Given the description of an element on the screen output the (x, y) to click on. 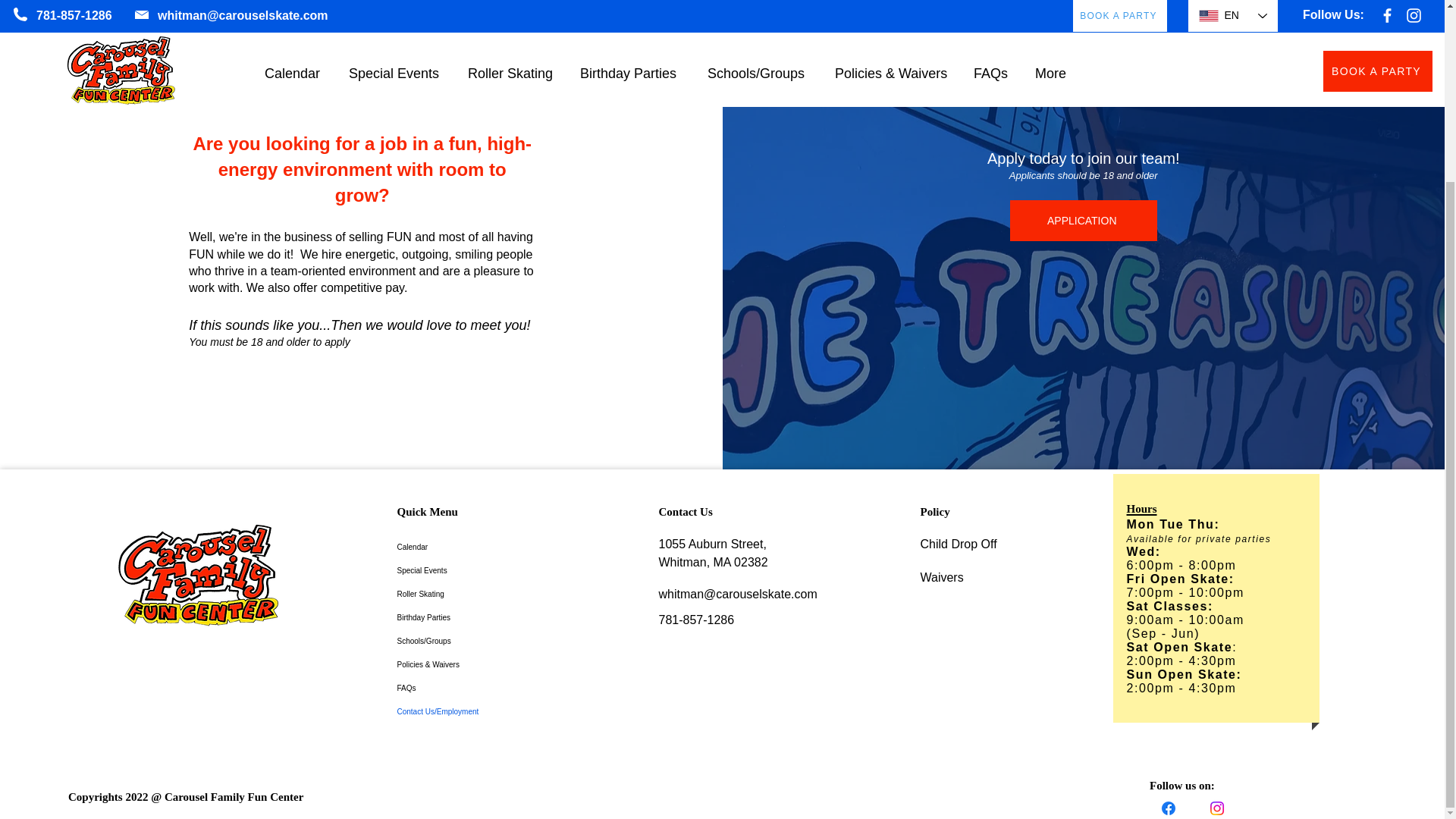
Waivers (941, 576)
Birthday Parties (454, 617)
Special Events (454, 570)
Roller Skating (454, 594)
APPLICATION (1083, 219)
Child Drop Off (958, 543)
FAQs (454, 688)
Calendar (454, 546)
